Given the description of an element on the screen output the (x, y) to click on. 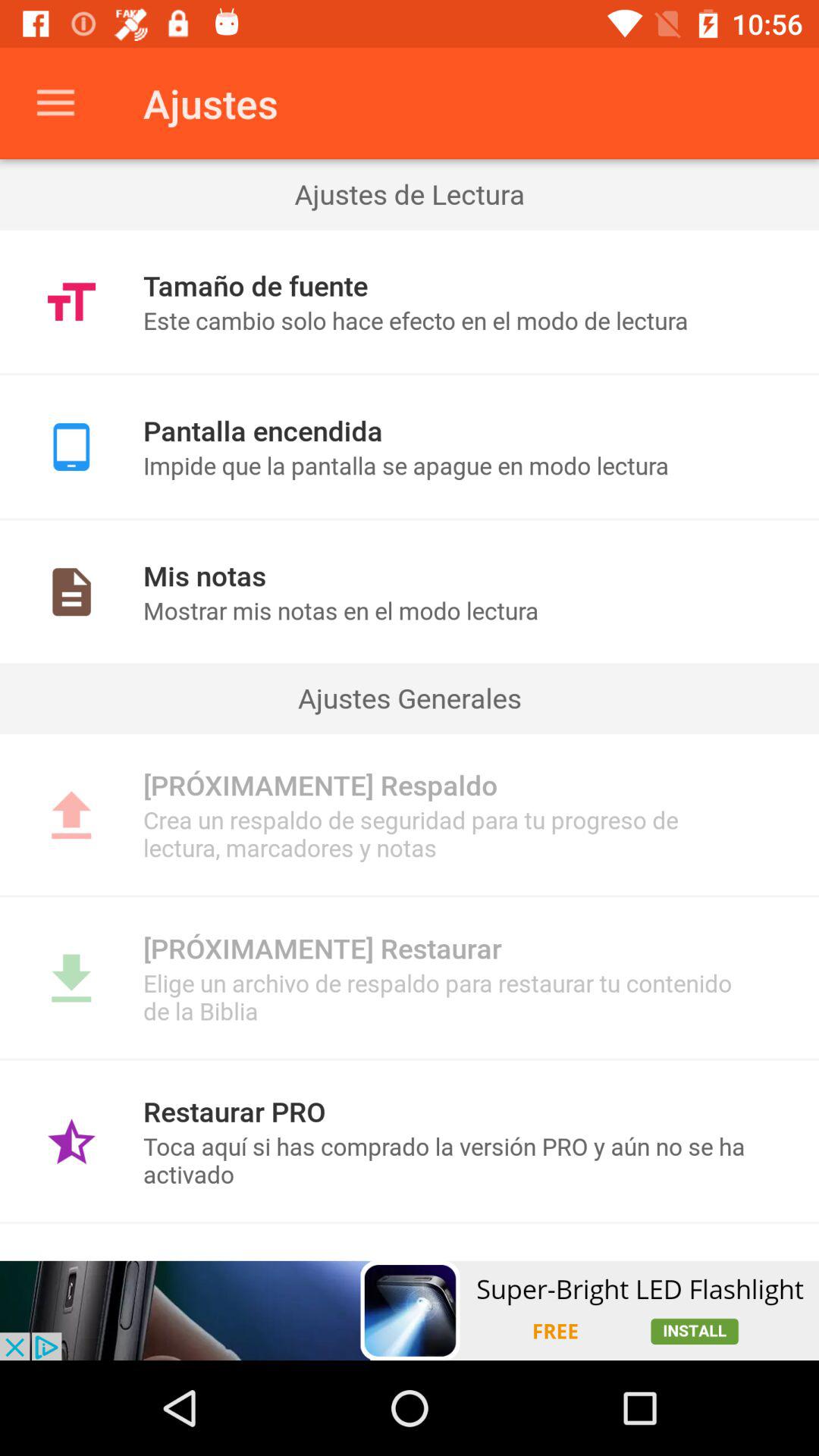
turn off item above ajustes de lectura icon (55, 103)
